Given the description of an element on the screen output the (x, y) to click on. 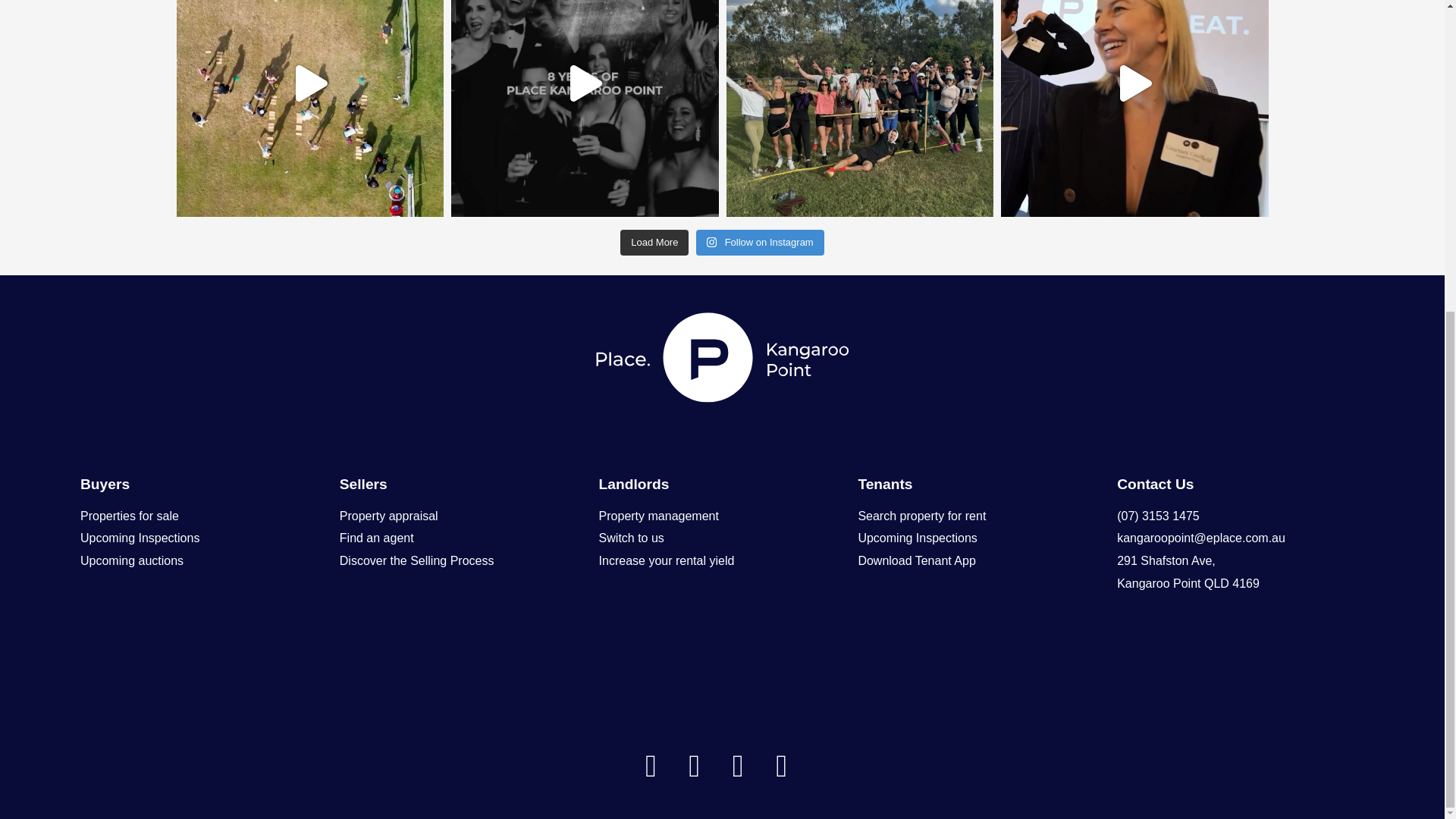
Switch to us (630, 537)
Discover the Selling Process (417, 560)
Property appraisal (388, 515)
Upcoming Inspections (139, 537)
Property management (658, 515)
Upcoming auctions (131, 560)
Properties for sale (129, 515)
Increase your rental yield (666, 560)
Follow on Instagram (759, 242)
Load More (654, 242)
Find an agent (376, 537)
